Given the description of an element on the screen output the (x, y) to click on. 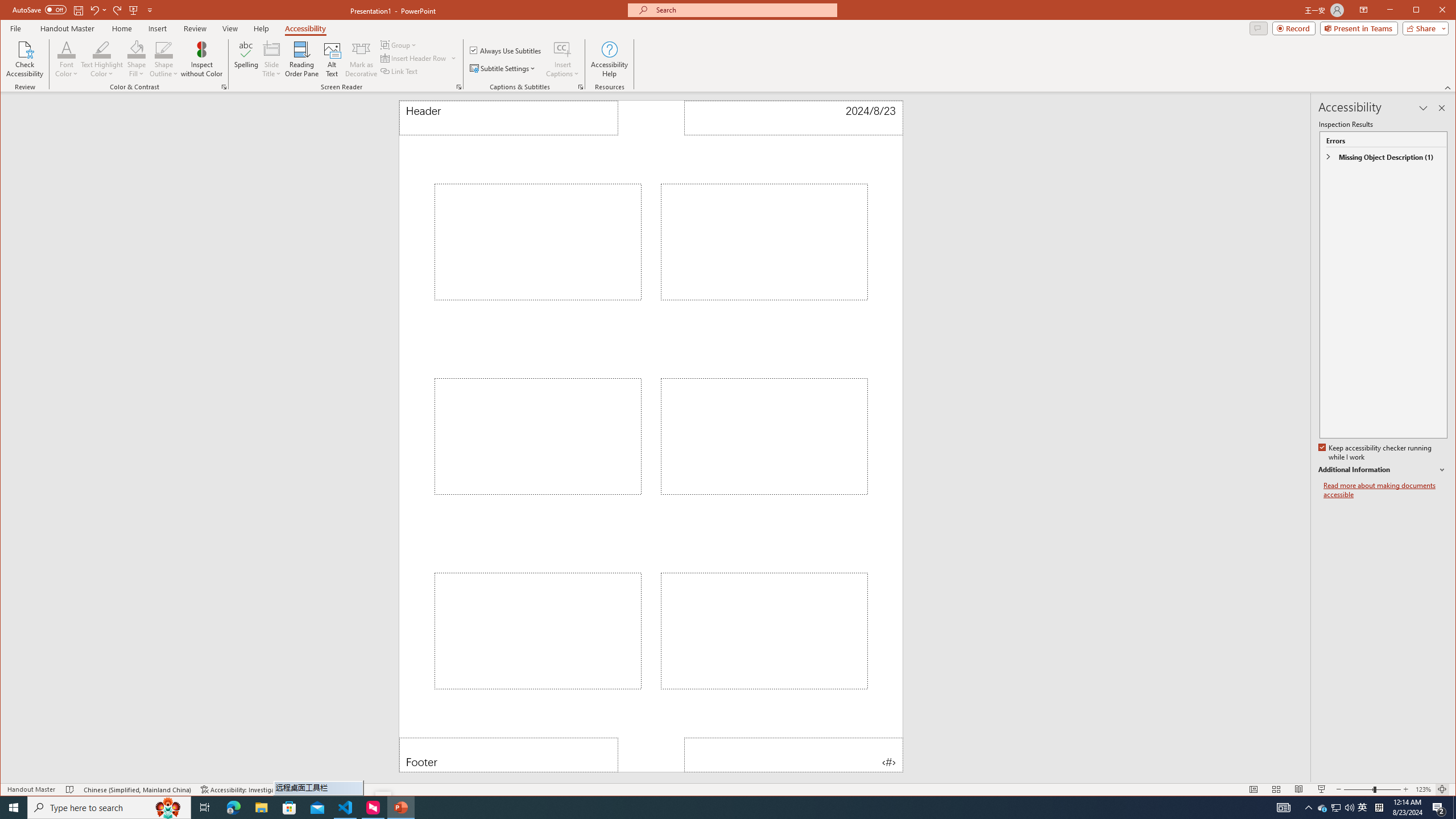
Slide Title (271, 48)
